Given the description of an element on the screen output the (x, y) to click on. 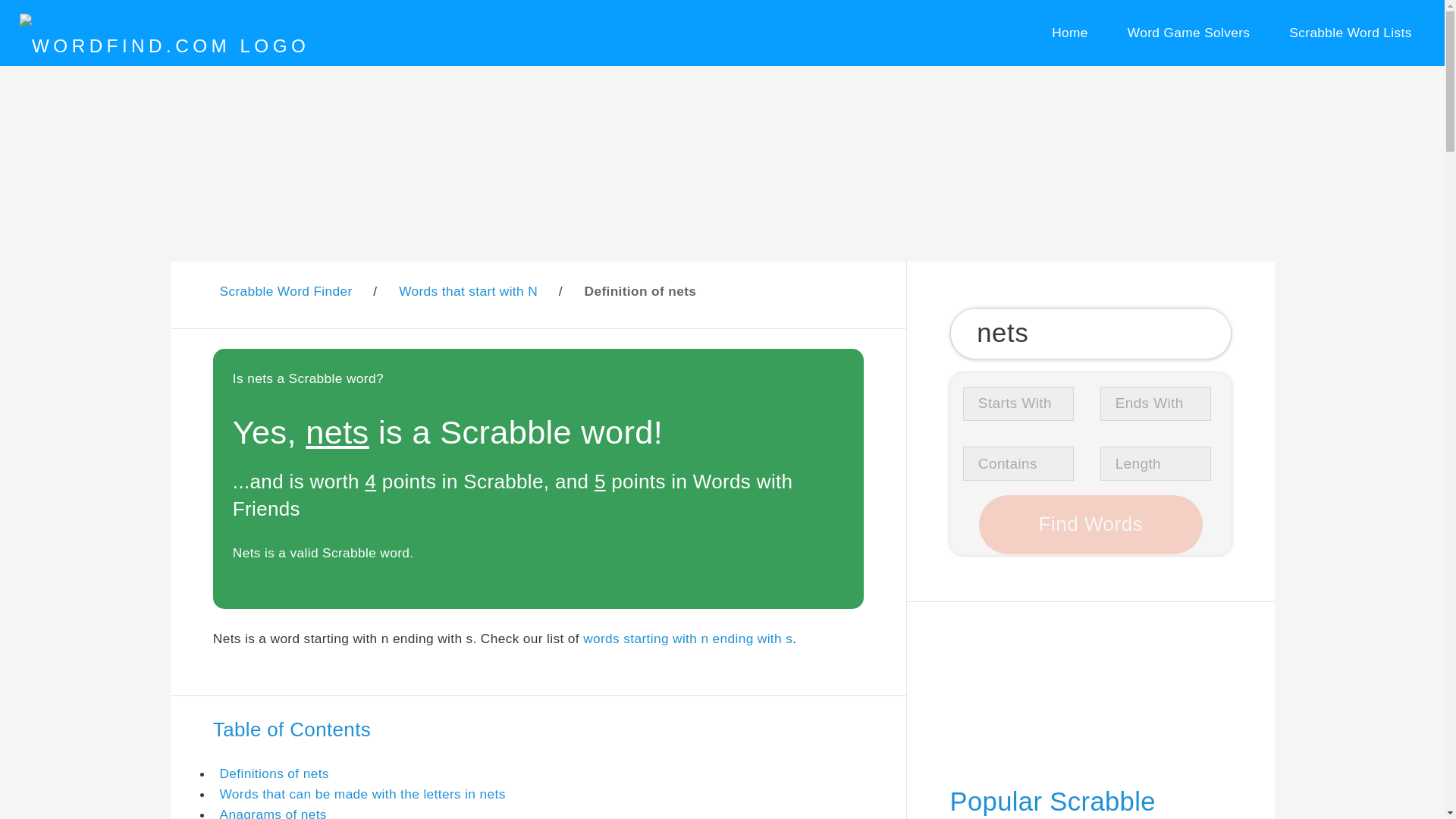
Return Home (1069, 33)
Word Game Solvers (1187, 33)
Scrabble Word Lists menu (1350, 33)
Scrabble Word Lists (1350, 33)
nets (1090, 333)
Word Game Solvers menu (1187, 33)
Scrabble Word Finder (285, 290)
Words that start with N (467, 290)
Definitions of nets (274, 773)
Return Home to Wordfind.com (164, 46)
Anagrams of nets (272, 812)
Find Words (1091, 525)
Words that can be made with the letters in nets (362, 793)
wordfind.com logo (164, 46)
words starting with n ending with s (687, 638)
